Given the description of an element on the screen output the (x, y) to click on. 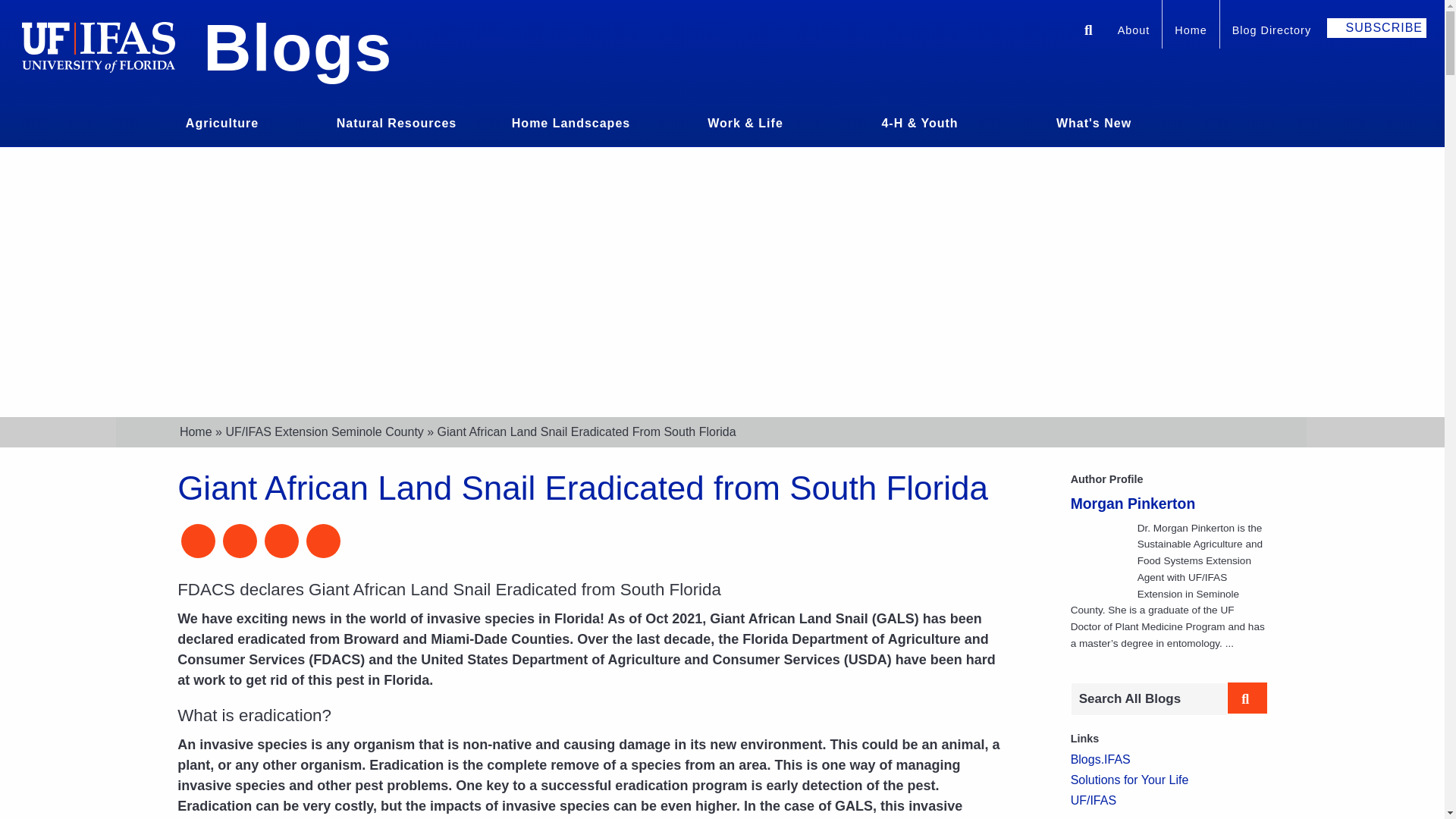
Search All Blogs (1148, 698)
Home Landscapes (571, 121)
About (1133, 32)
Agriculture (221, 121)
Natural Resources (396, 121)
Blog Directory (1271, 32)
Home (1189, 32)
SUBSCRIBE (1376, 27)
Blogs (297, 47)
